Given the description of an element on the screen output the (x, y) to click on. 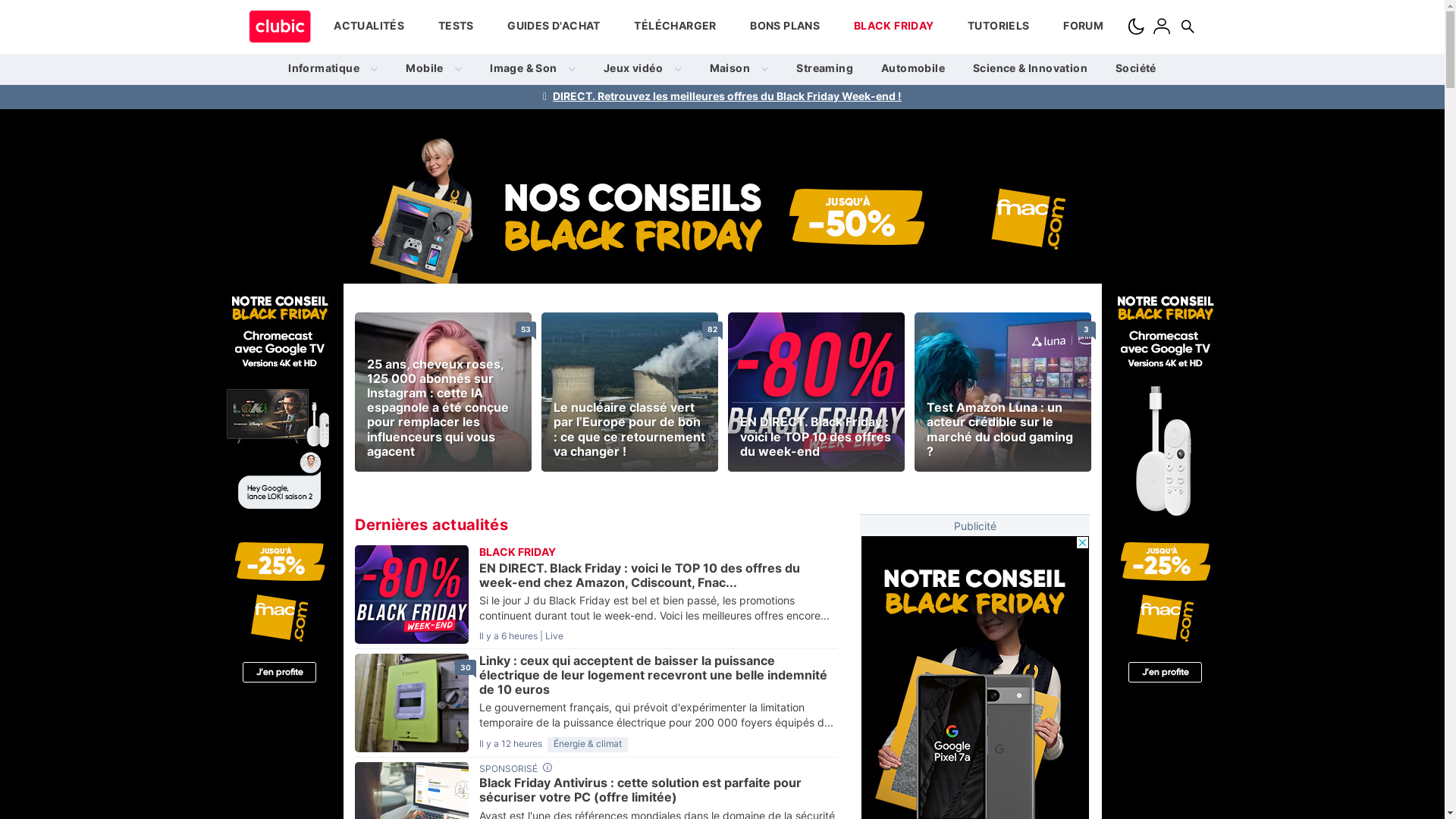
Automobile Element type: text (912, 68)
Maison Element type: text (738, 68)
GUIDES D'ACHAT Element type: text (553, 26)
Mobile Element type: text (433, 68)
Informatique Element type: text (332, 68)
30 Element type: text (465, 666)
BONS PLANS Element type: text (784, 26)
Streaming Element type: text (824, 68)
TESTS Element type: text (455, 26)
BLACK FRIDAY Element type: text (893, 26)
FORUM Element type: text (1083, 26)
Retour accueil Clubic Element type: text (279, 26)
Science & Innovation Element type: text (1029, 68)
Image & Son Element type: text (532, 68)
TUTORIELS Element type: text (998, 26)
